Given the description of an element on the screen output the (x, y) to click on. 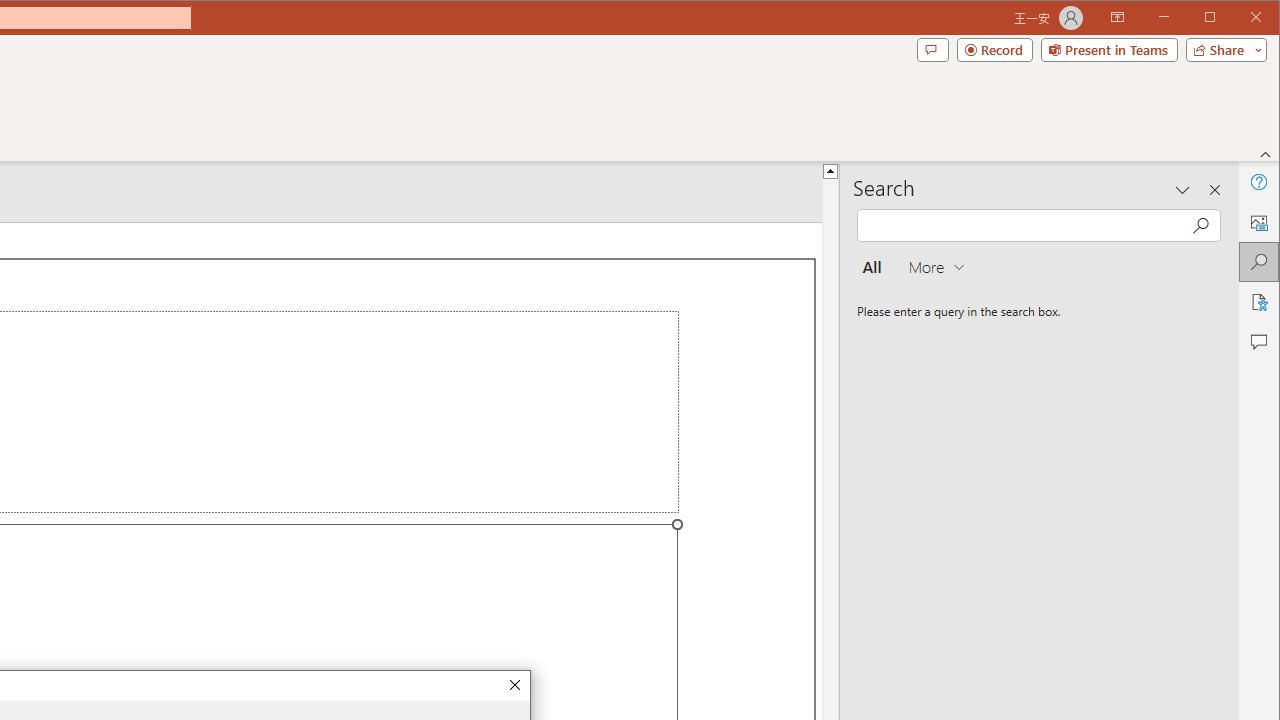
Alt Text (1258, 221)
